Given the description of an element on the screen output the (x, y) to click on. 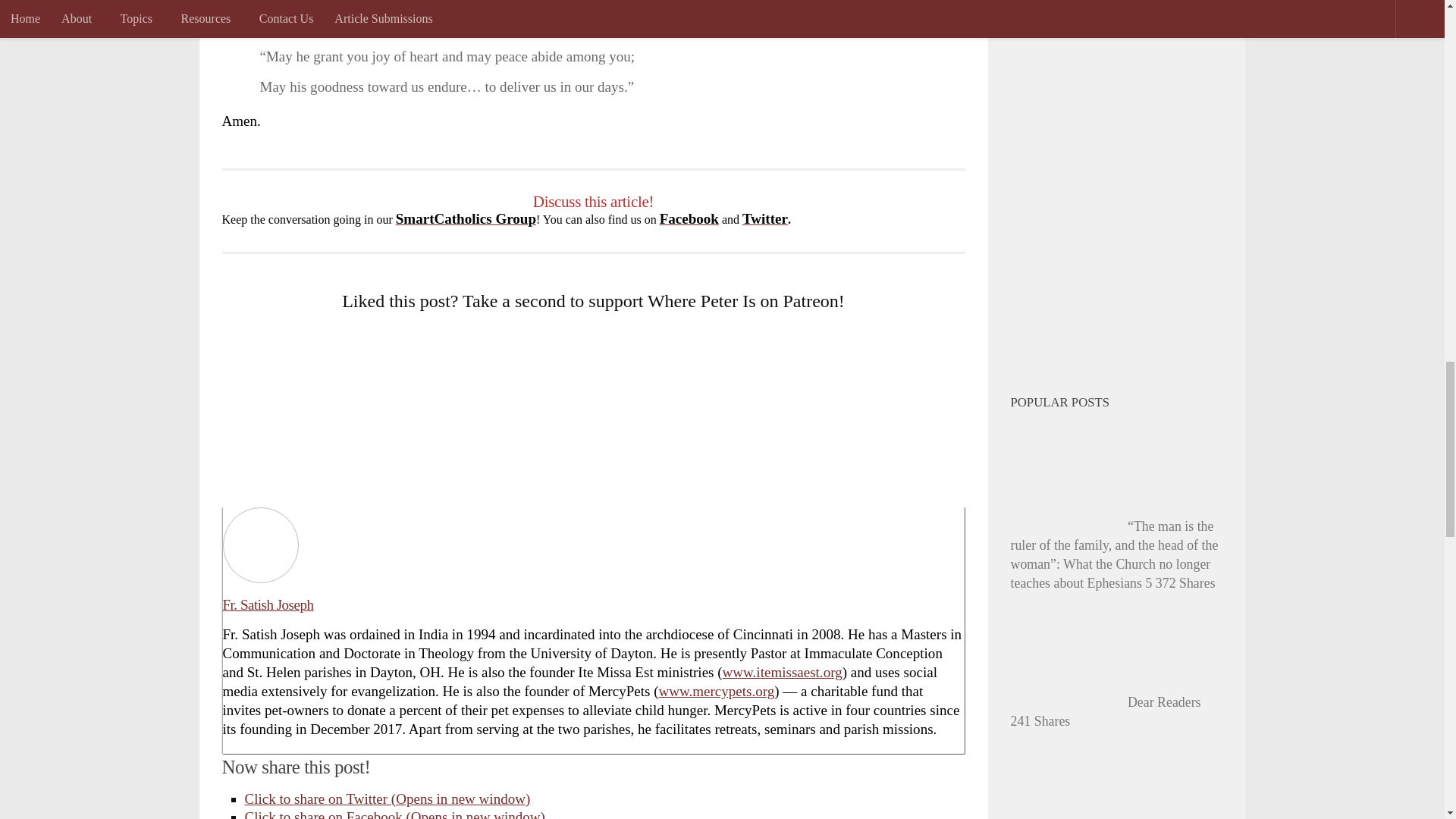
Facebook (689, 218)
Click to share on Twitter (386, 798)
SmartCatholics Group (465, 218)
Twitter (764, 218)
Click to share on Facebook (394, 814)
